Given the description of an element on the screen output the (x, y) to click on. 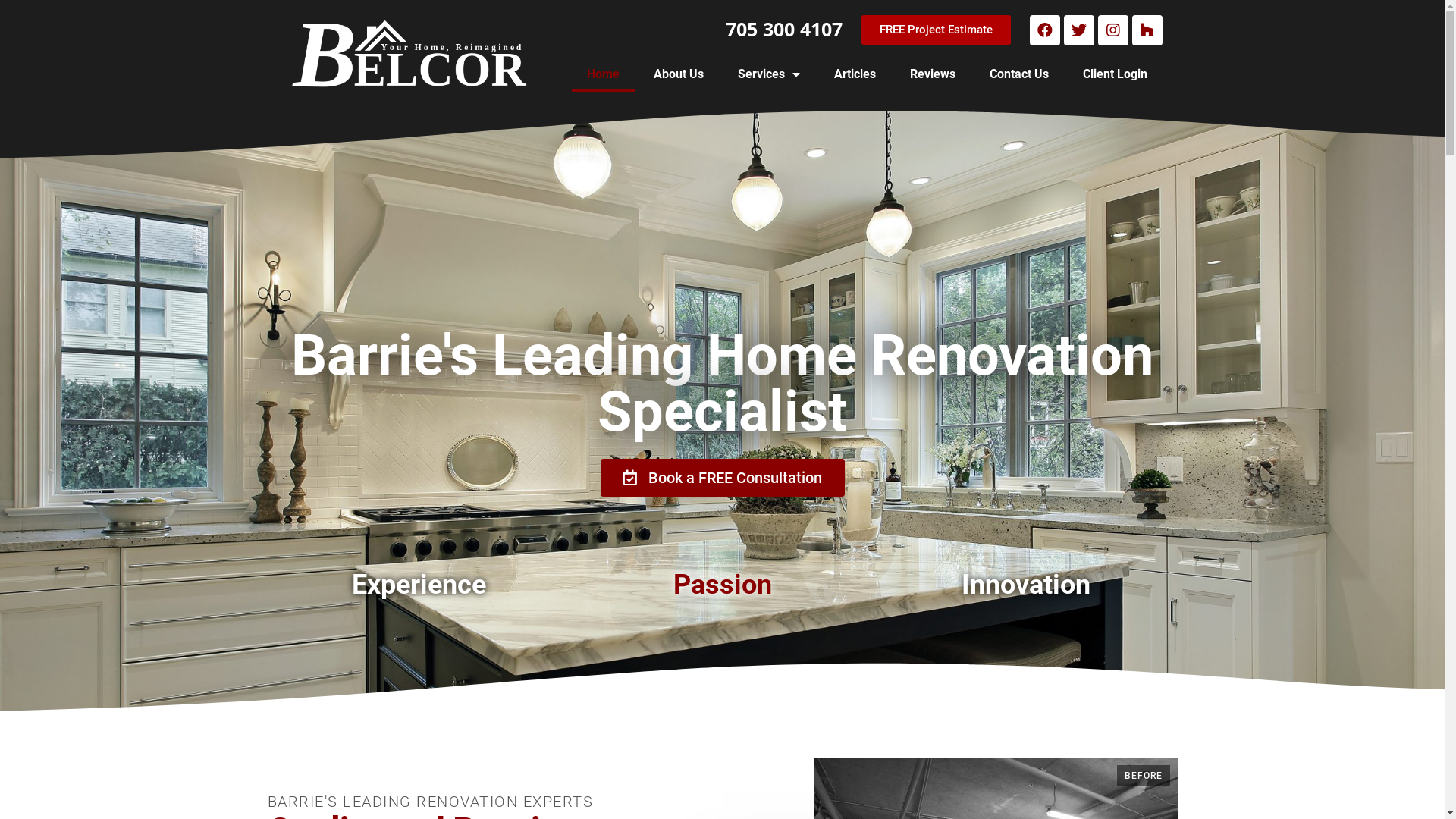
Reviews Element type: text (932, 73)
FREE Project Estimate Element type: text (935, 29)
Articles Element type: text (855, 73)
Client Login Element type: text (1114, 73)
Services Element type: text (767, 73)
About Us Element type: text (678, 73)
Contact Us Element type: text (1018, 73)
Home Element type: text (602, 73)
Book a FREE Consultation Element type: text (722, 477)
